Given the description of an element on the screen output the (x, y) to click on. 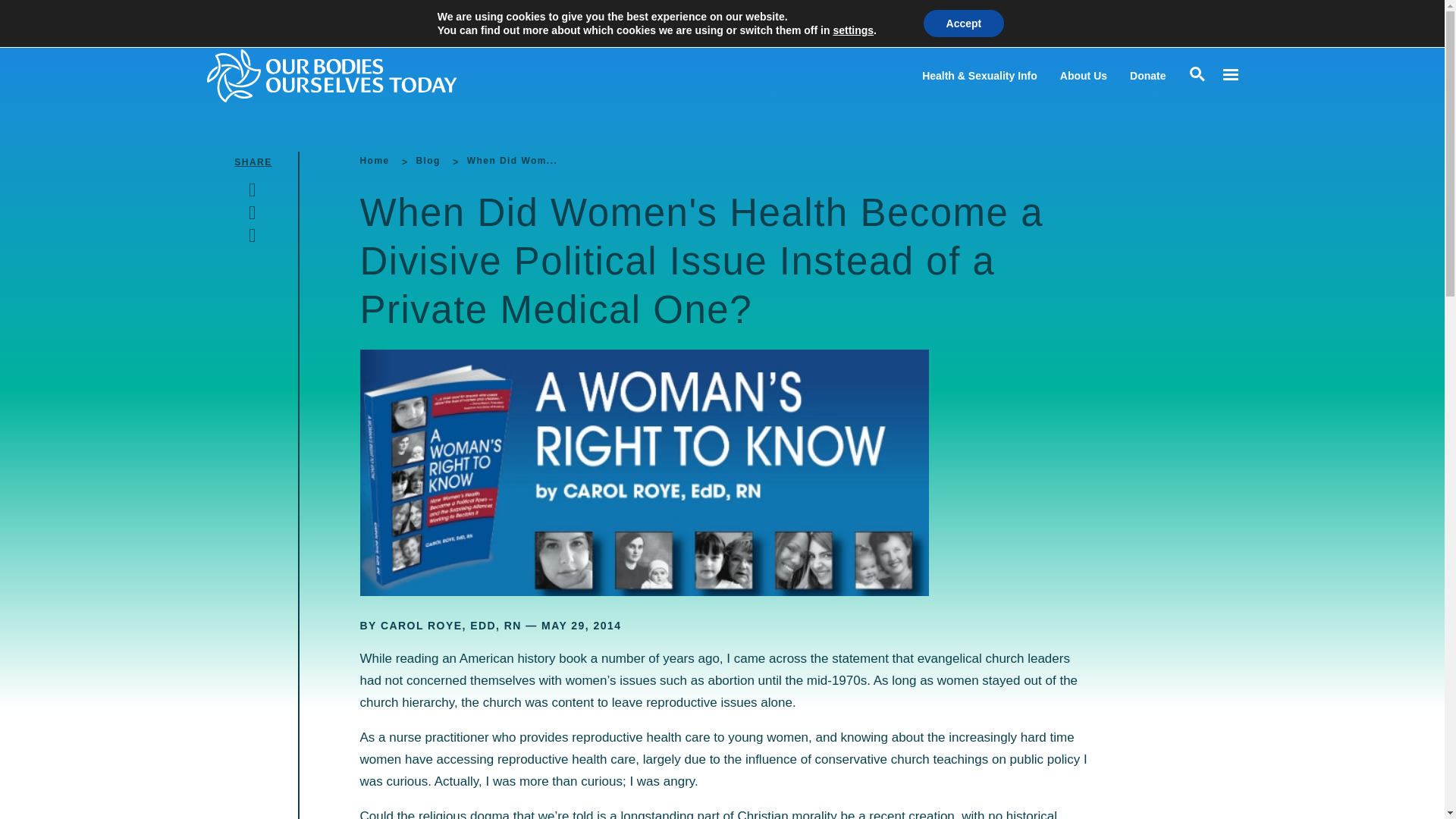
Search (15, 15)
Donate (1147, 75)
Expand navigation (1229, 75)
Our Bodies Ourselves Today (361, 75)
Home (373, 160)
About Us (1083, 75)
Blog (426, 160)
